Given the description of an element on the screen output the (x, y) to click on. 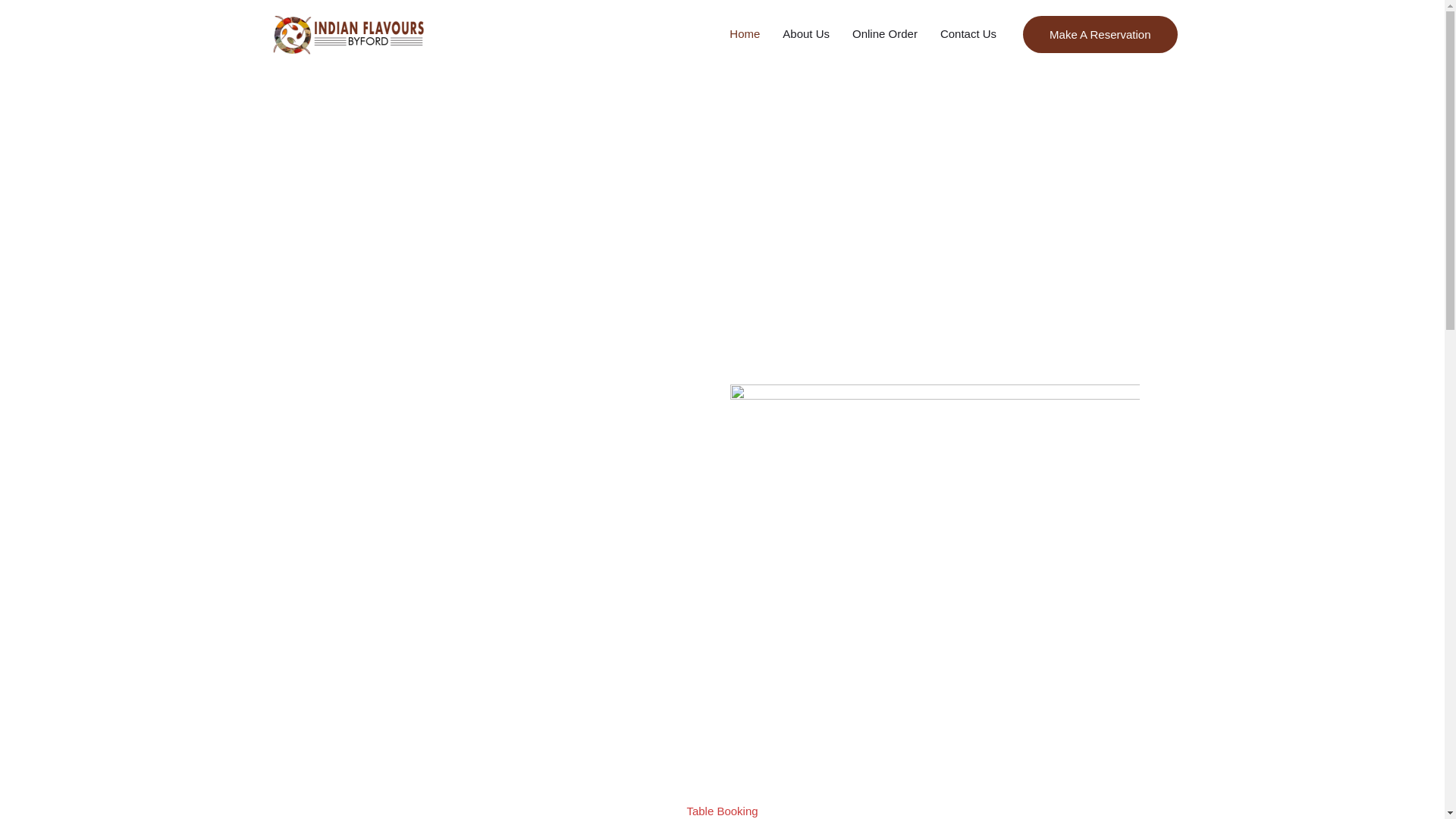
Make A Reservation Element type: text (1099, 33)
About Us Element type: text (805, 33)
Contact Us Element type: text (967, 33)
Online Order Element type: text (884, 33)
Home Element type: text (744, 33)
